Given the description of an element on the screen output the (x, y) to click on. 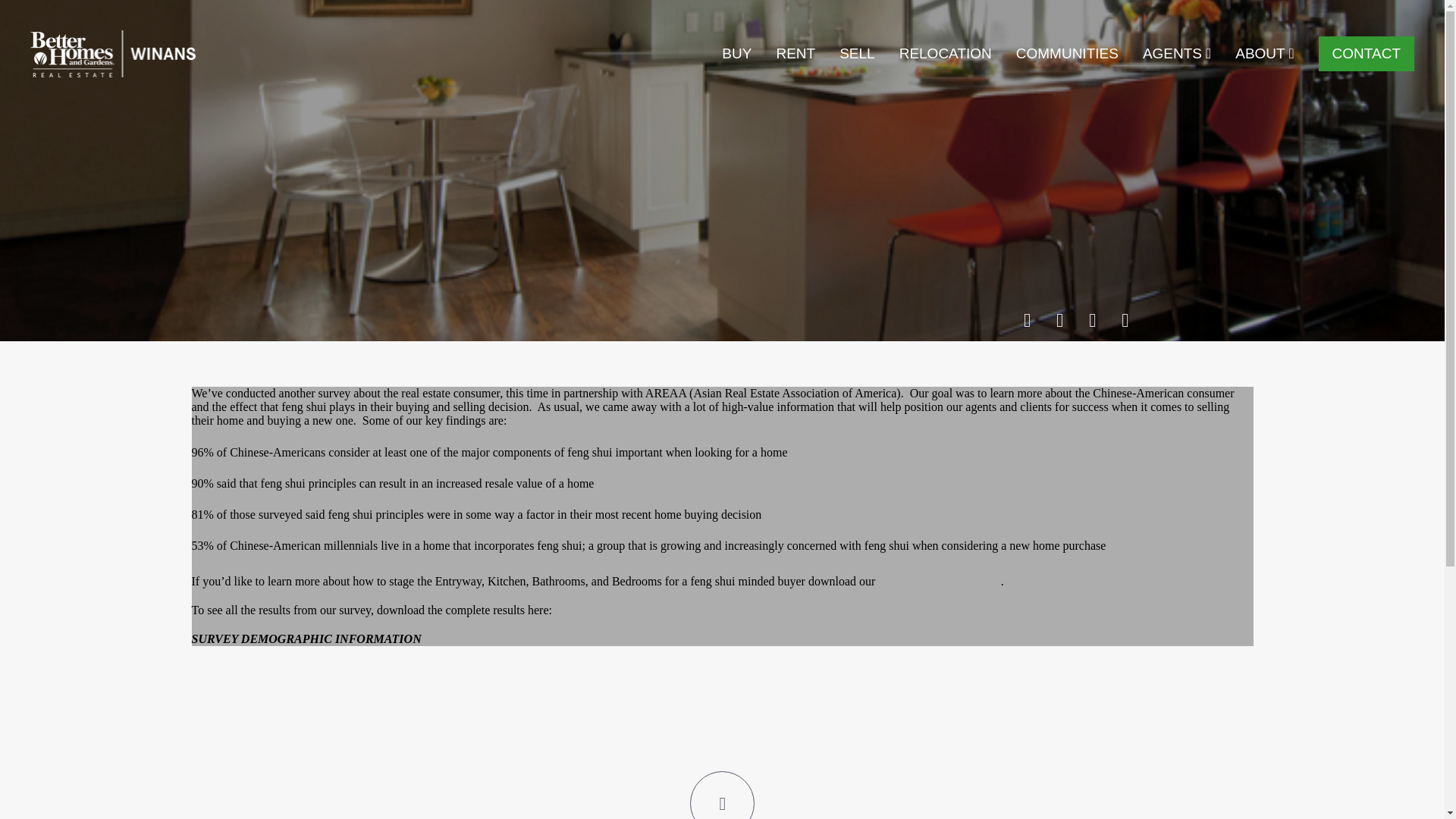
Feng Shui Staging Guide (938, 581)
Feng Shui Survey Findings (620, 609)
Submit (722, 538)
